Given the description of an element on the screen output the (x, y) to click on. 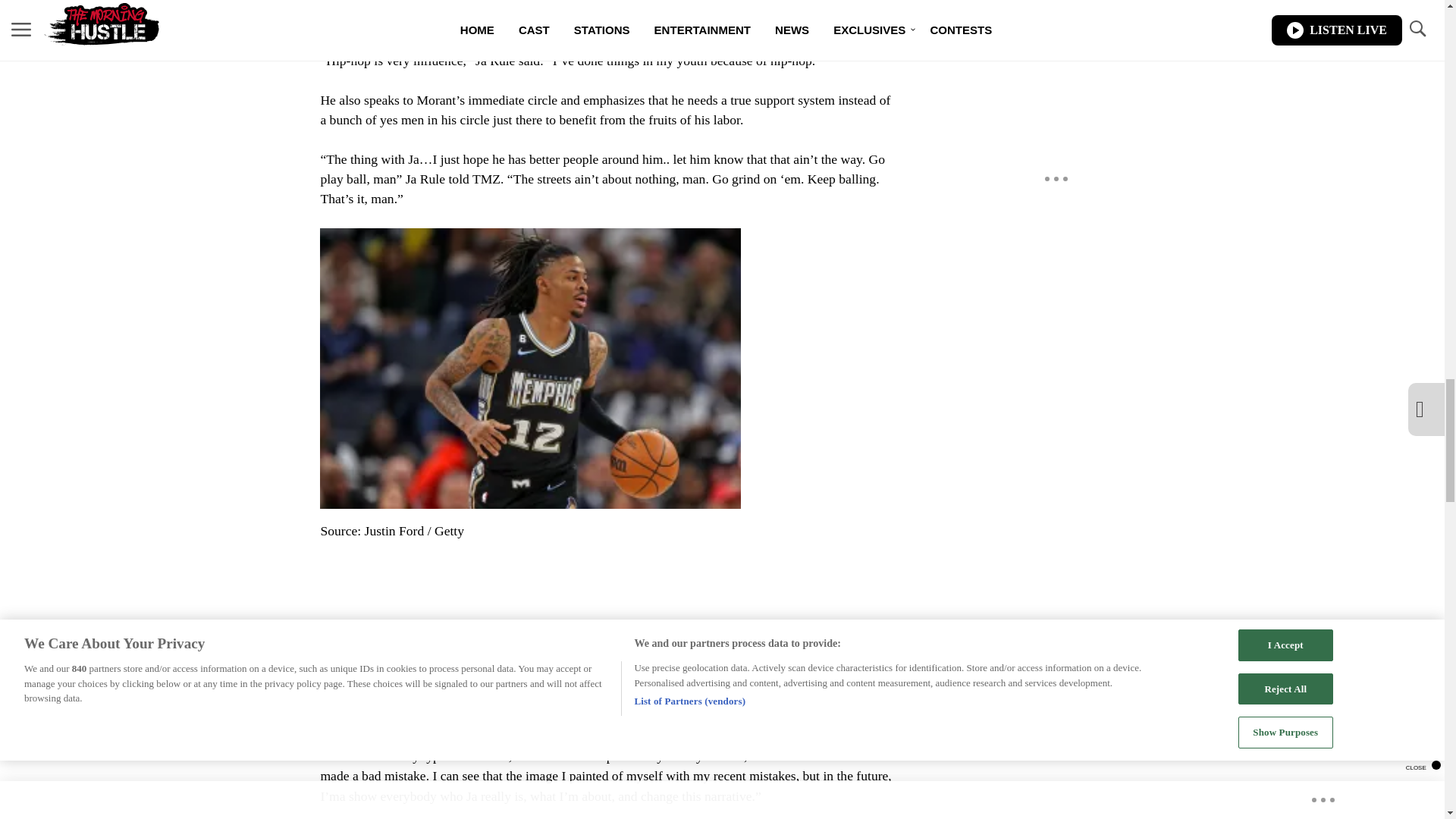
TMZ (451, 4)
